Given the description of an element on the screen output the (x, y) to click on. 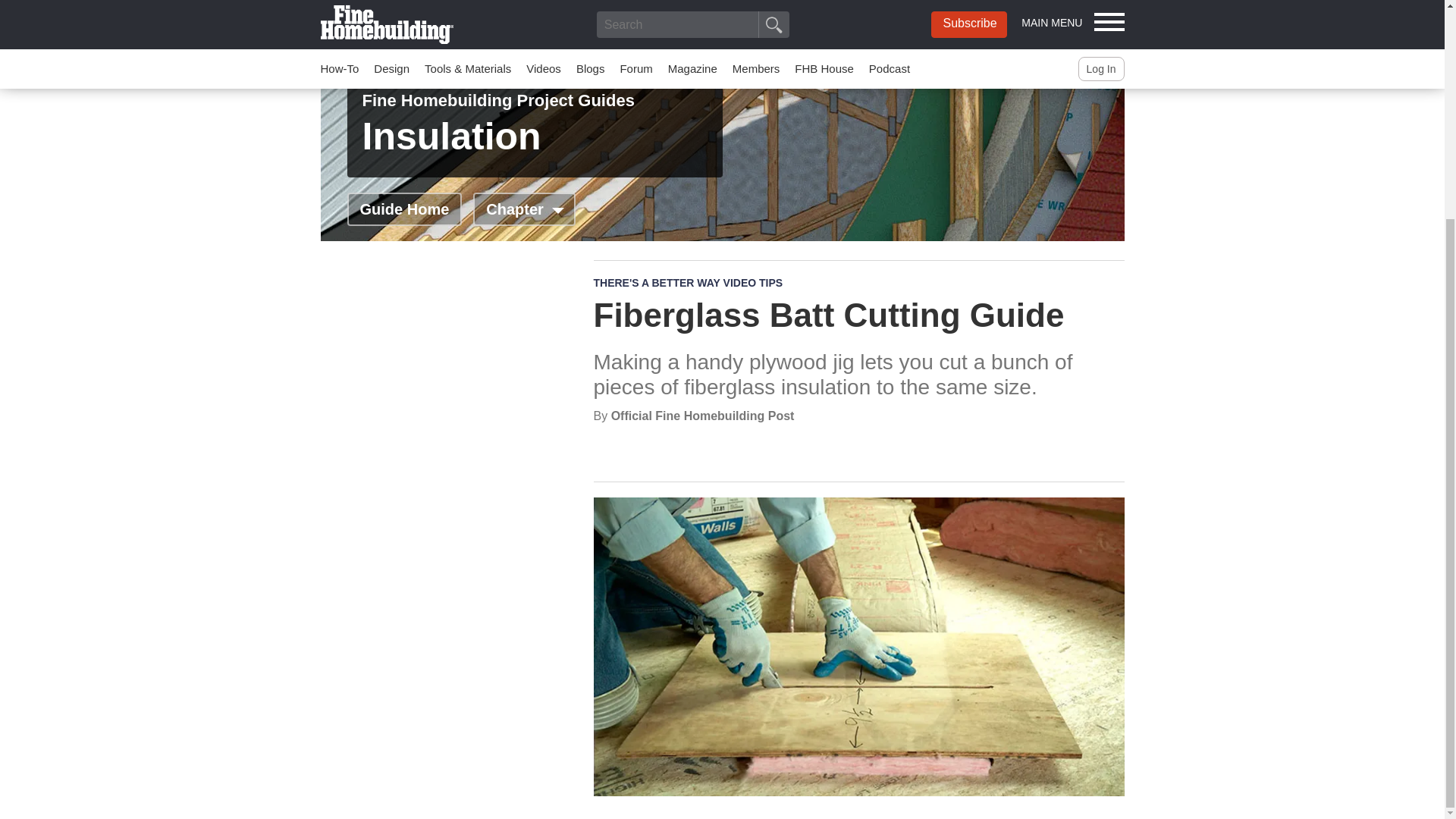
THERE'S A BETTER WAY VIDEO TIPS (687, 282)
Official Fine Homebuilding Post (702, 415)
Guide Home (405, 209)
Toggle Chapter Menu (524, 209)
Chapter (524, 209)
